Given the description of an element on the screen output the (x, y) to click on. 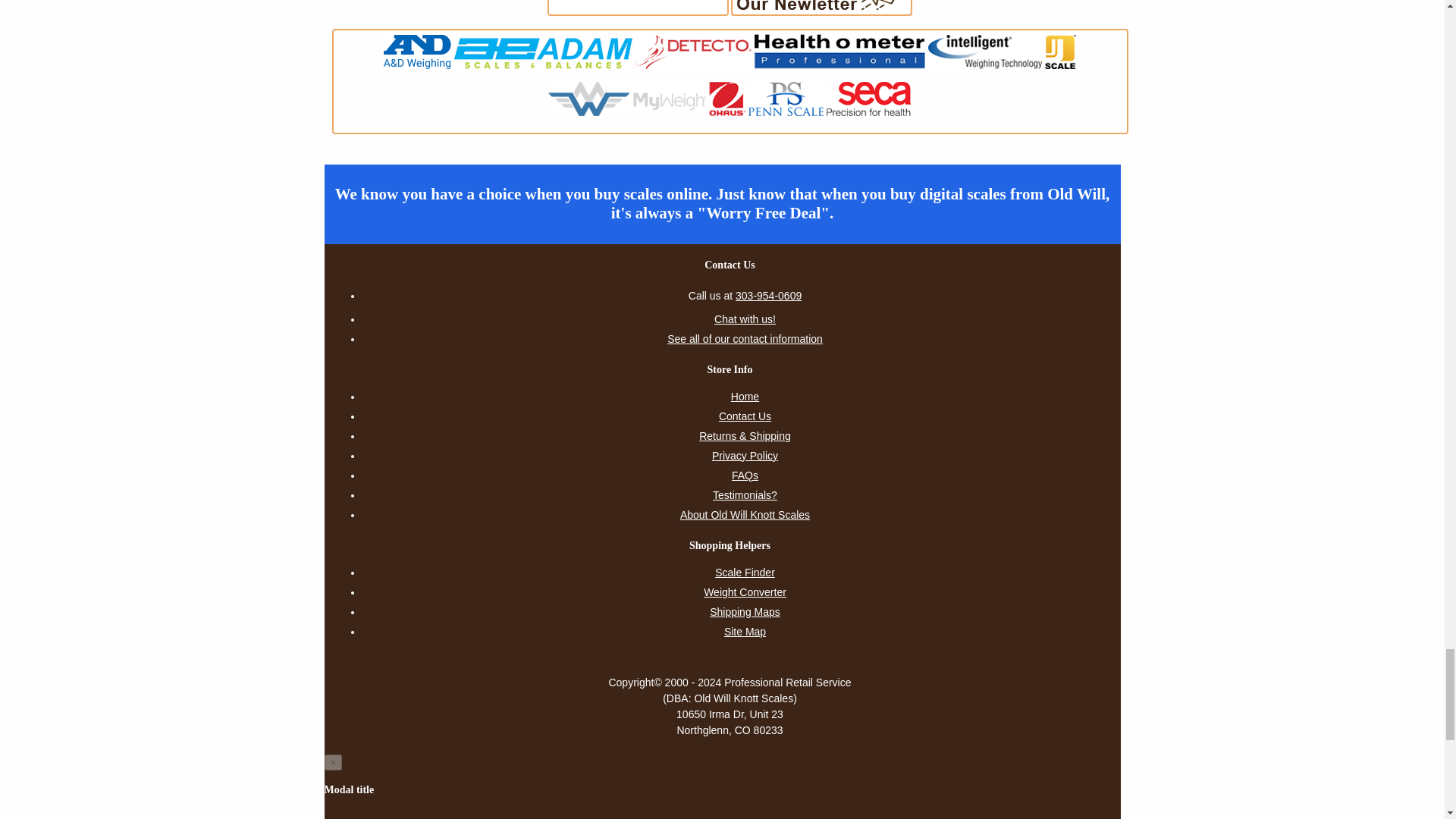
Go to our contact information page (745, 415)
Go to our privacy policy page (744, 455)
Go see our contact information (744, 338)
Go to our weight converter page (744, 591)
Go read our frequently asked questions (745, 475)
Go to our FedEx Ground shipping transit times map page (745, 611)
Go to the homepage (744, 396)
Go to our testimonials page (745, 495)
Go to our ''about us'' page (744, 514)
Go to our scale finding tool (744, 572)
